Given the description of an element on the screen output the (x, y) to click on. 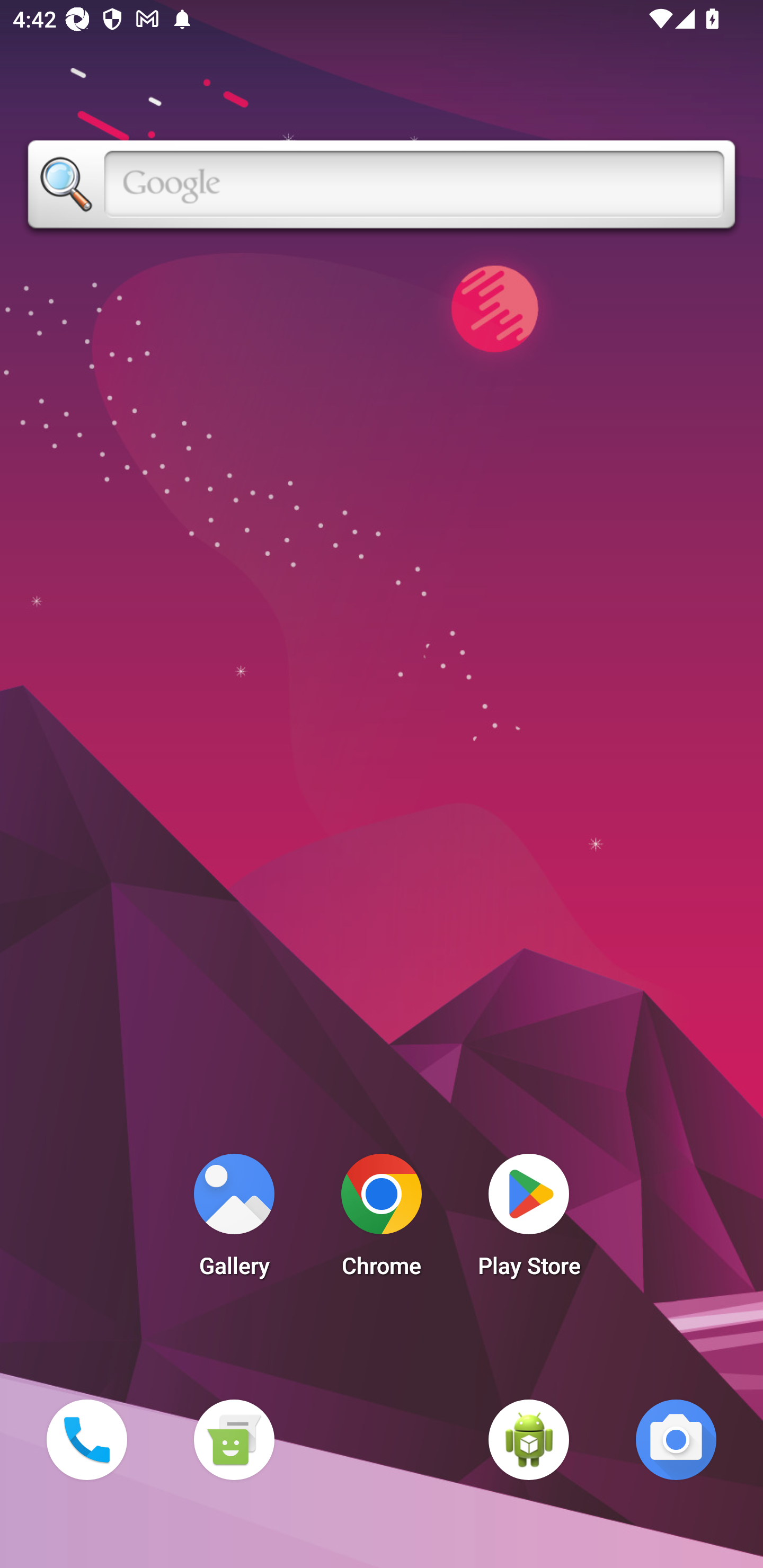
Gallery (233, 1220)
Chrome (381, 1220)
Play Store (528, 1220)
Phone (86, 1439)
Messaging (233, 1439)
WebView Browser Tester (528, 1439)
Camera (676, 1439)
